Given the description of an element on the screen output the (x, y) to click on. 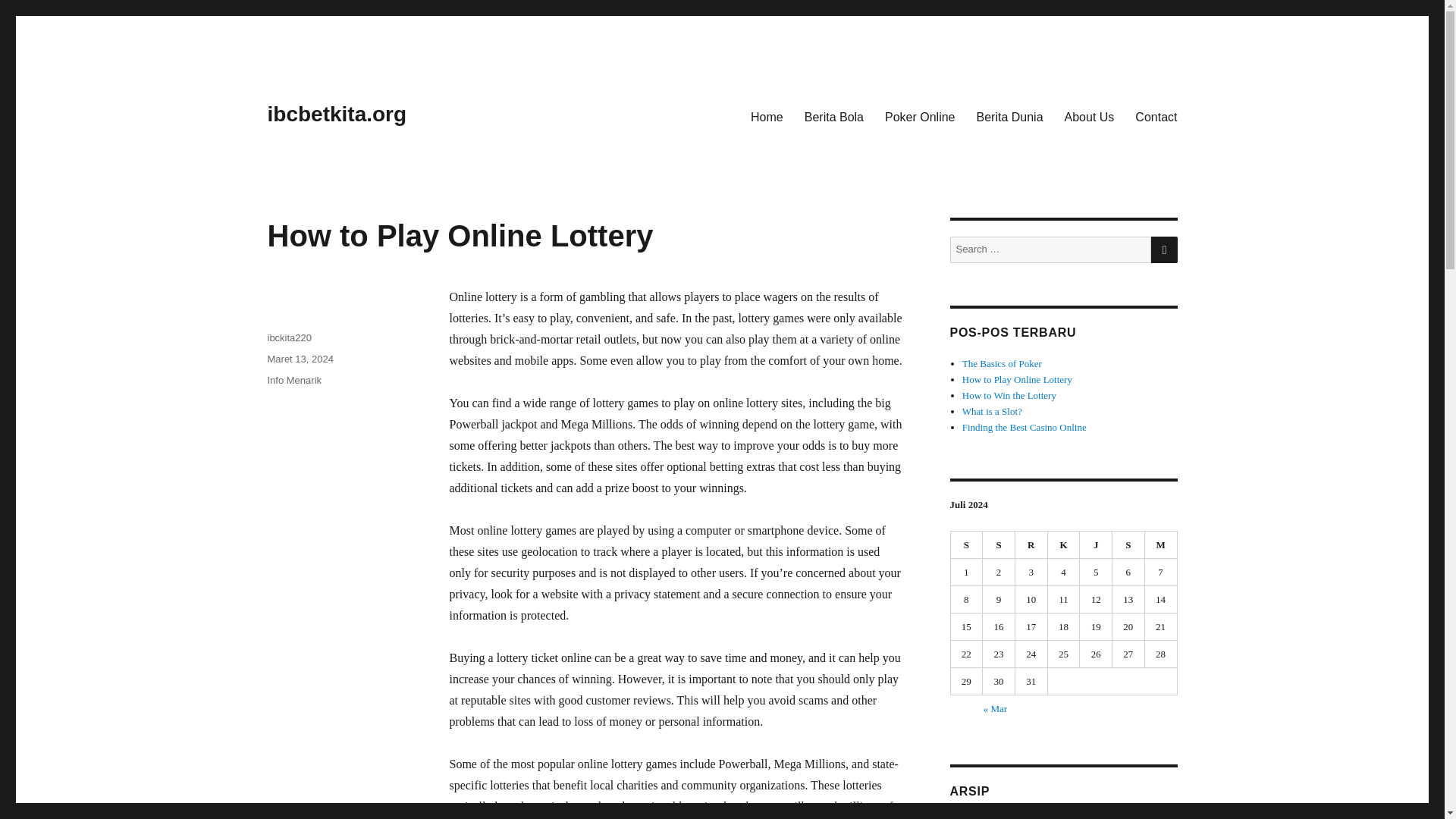
About Us (1089, 116)
How to Play Online Lottery (1016, 378)
Info Menarik (293, 379)
ibckita220 (288, 337)
Finding the Best Casino Online (1024, 427)
What is a Slot? (992, 410)
ibcbetkita.org (336, 114)
Selasa (998, 544)
Maret 2024 (984, 817)
Kamis (1064, 544)
Berita Bola (834, 116)
Senin (967, 544)
How to Win the Lottery (1009, 395)
Berita Dunia (1010, 116)
Sabtu (1128, 544)
